Given the description of an element on the screen output the (x, y) to click on. 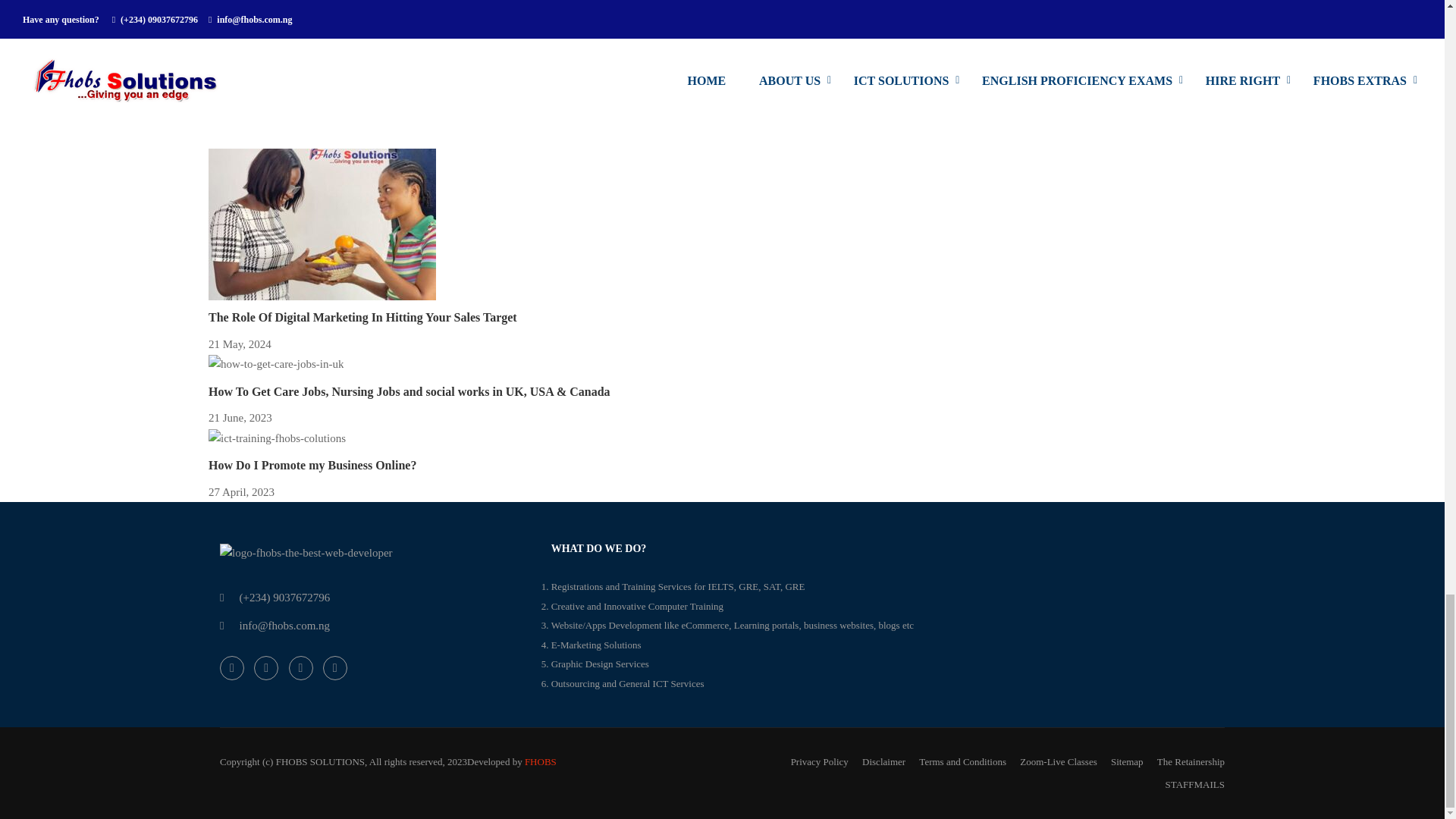
the-role-of-digital-marketing-in-hitting-your-sales-taget (321, 224)
how-to-get-care-jobs-in-uk (275, 364)
The Role Of Digital Marketing In Hitting Your Sales Target (362, 317)
ict-training-fhobs-colutions (277, 438)
